Given the description of an element on the screen output the (x, y) to click on. 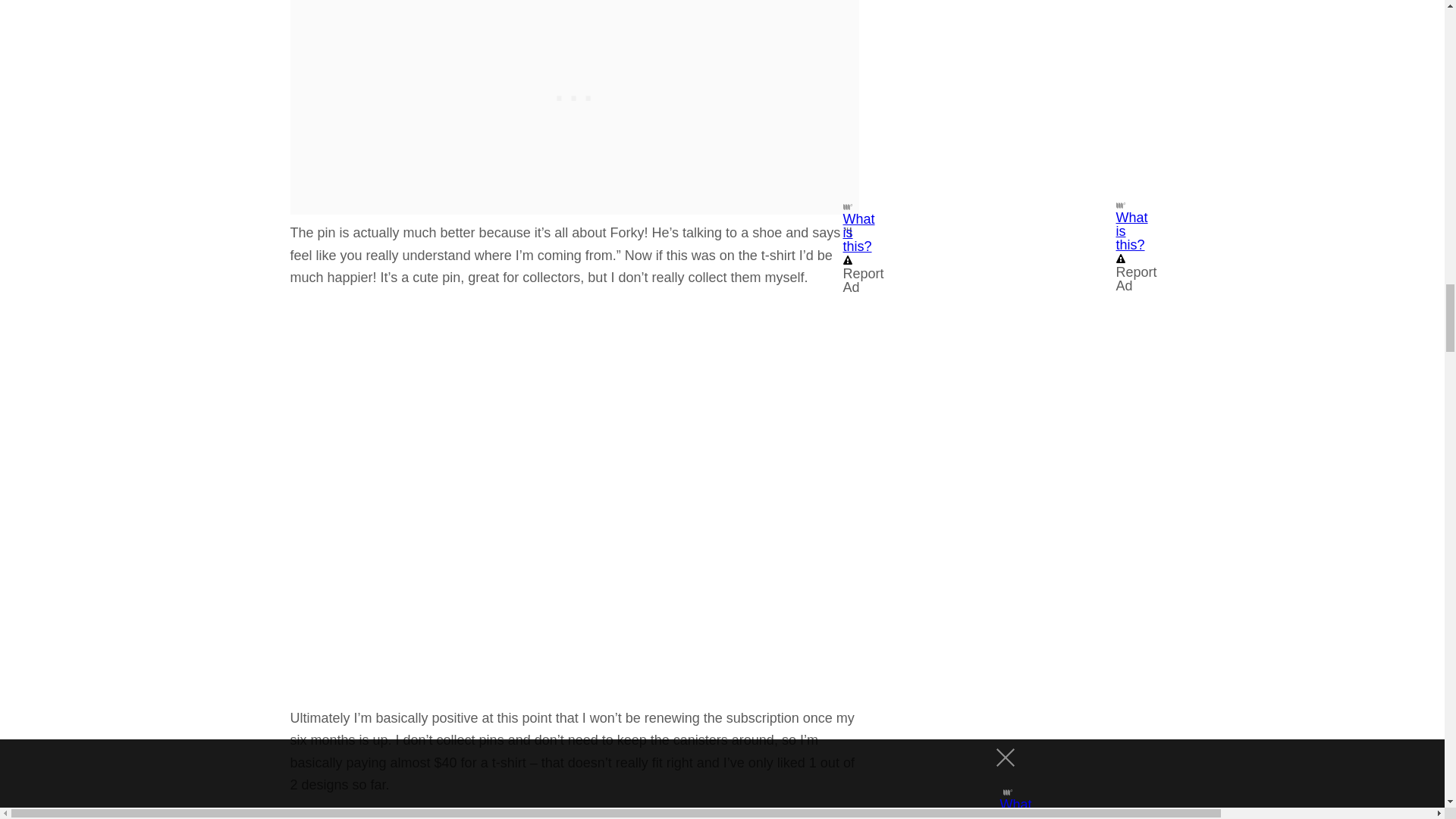
3rd party ad content (574, 35)
